Given the description of an element on the screen output the (x, y) to click on. 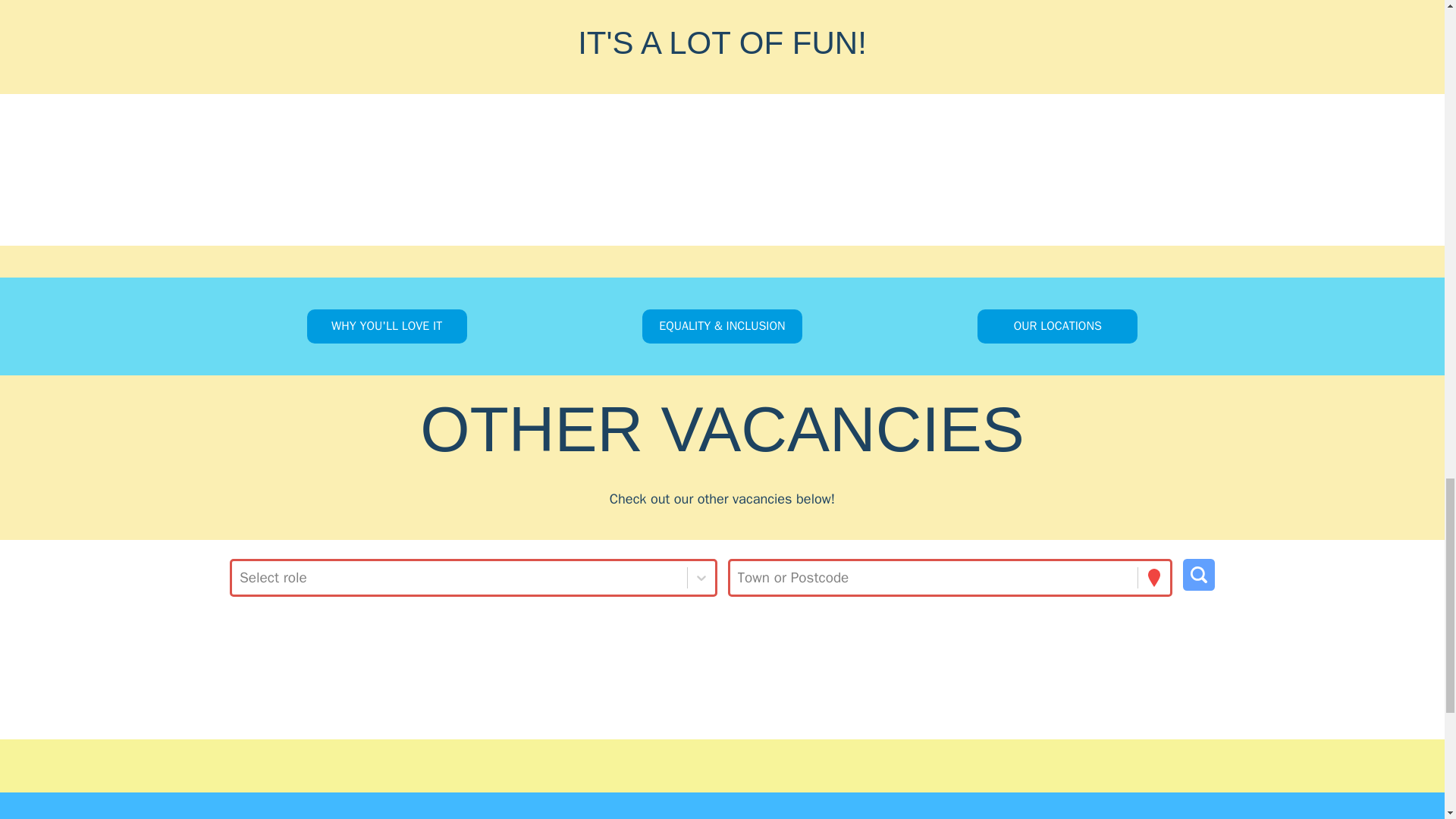
OUR LOCATIONS (1056, 326)
WHY YOU'LL LOVE IT (387, 326)
tiktok (778, 765)
spotify (740, 765)
instagram (665, 765)
facebook (702, 765)
